Given the description of an element on the screen output the (x, y) to click on. 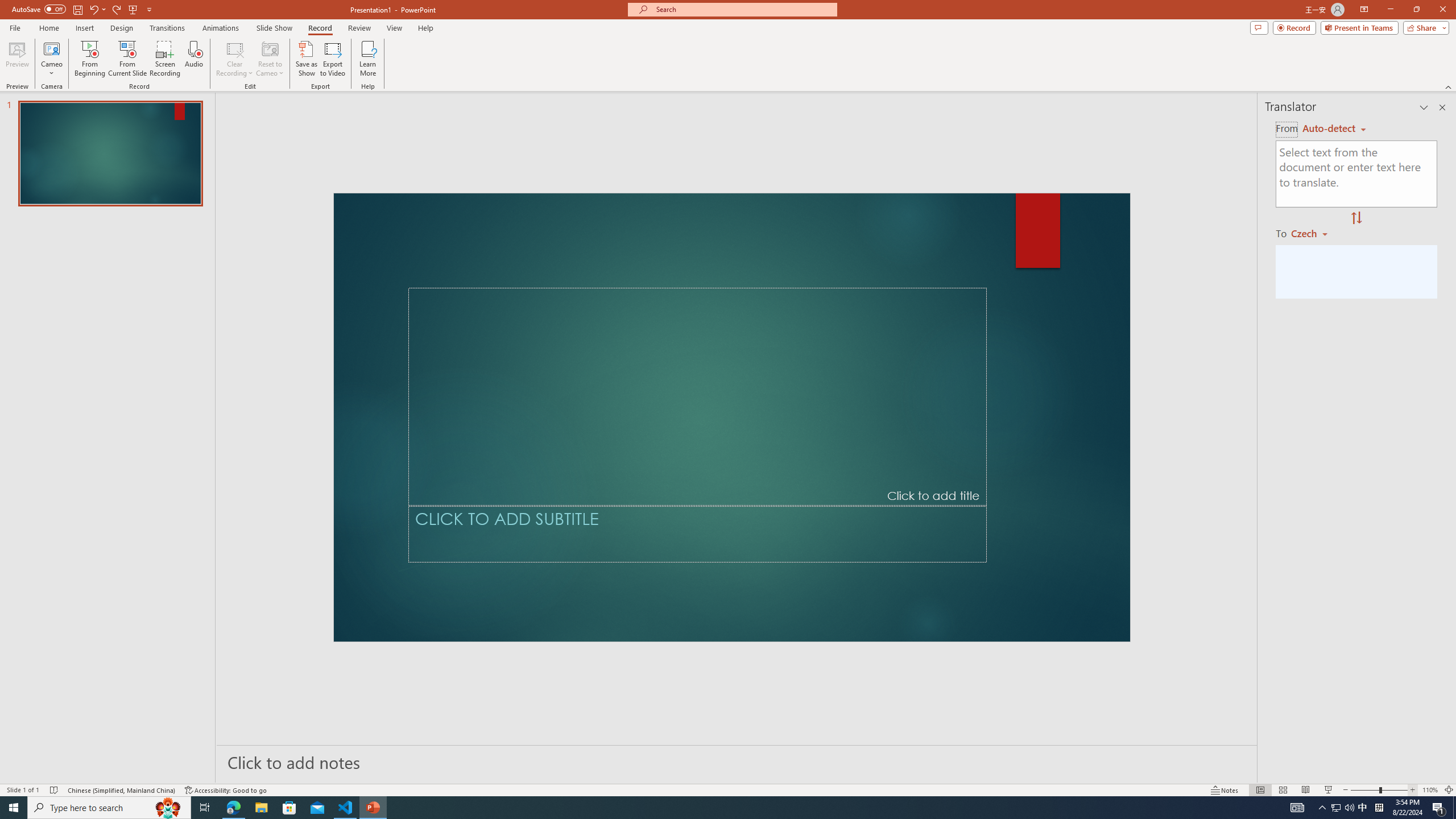
Reset to Cameo (269, 58)
Clear Recording (234, 58)
Learn More (368, 58)
